Given the description of an element on the screen output the (x, y) to click on. 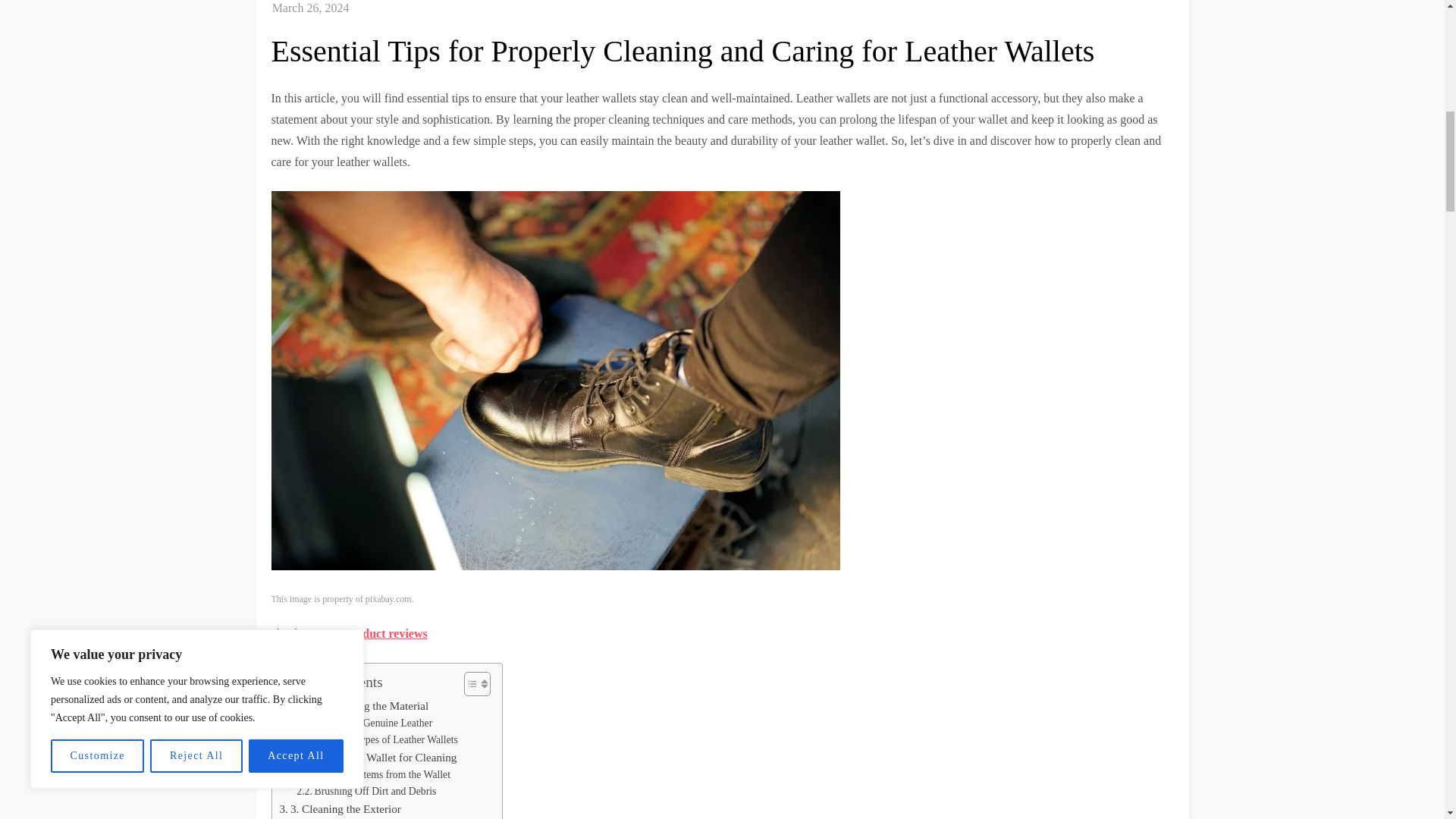
Identifying Genuine Leather (364, 723)
check out our product reviews (349, 633)
Identifying Genuine Leather (364, 723)
See the check out our product  s in detail. (349, 633)
Different Types of Leather Wallets (377, 740)
1. Understanding the Material (353, 705)
2. Preparing the Wallet for Cleaning (368, 757)
March 26, 2024 (310, 7)
Removing Items from the Wallet (373, 774)
